Given the description of an element on the screen output the (x, y) to click on. 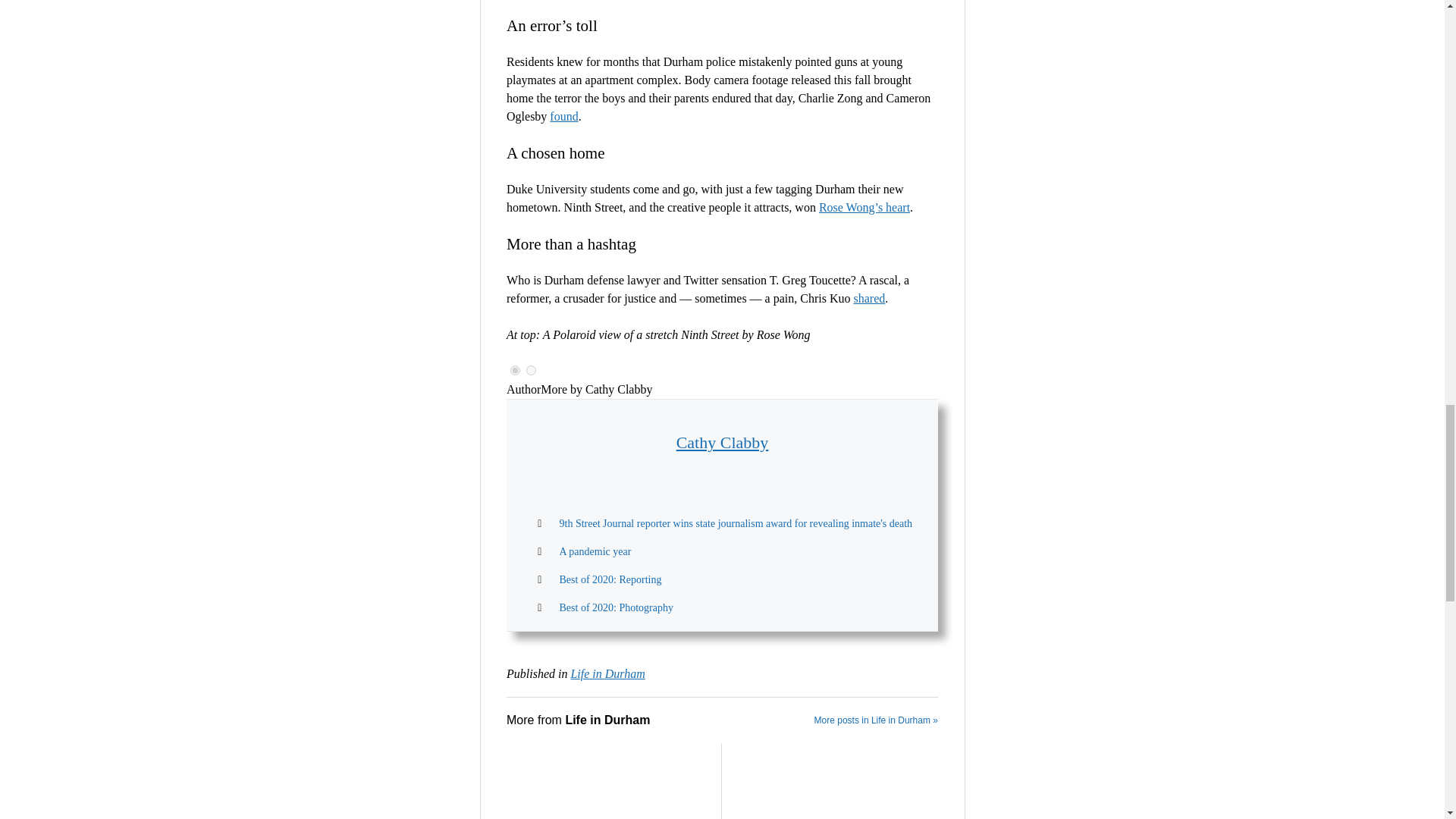
found (564, 115)
on (515, 370)
on (530, 370)
Best of 2020: Reporting (610, 579)
Life in Durham (607, 673)
View all posts in Life in Durham (607, 673)
A pandemic year (595, 551)
shared (869, 297)
Cathy Clabby (722, 442)
Best of 2020: Photography (616, 607)
